Given the description of an element on the screen output the (x, y) to click on. 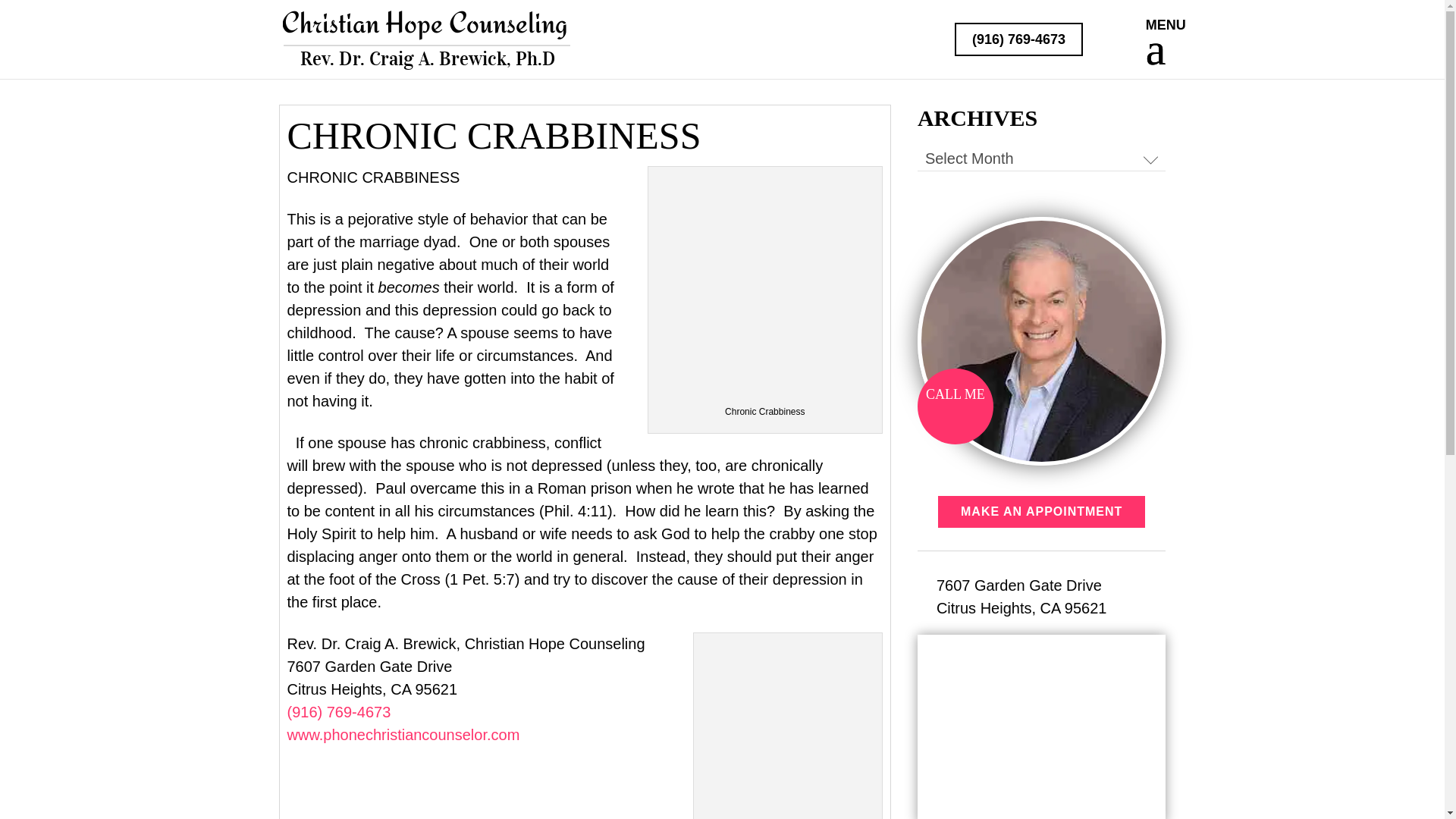
www.phonechristiancounselor.com (402, 734)
MAKE AN APPOINTMENT (1040, 511)
CALL ME (954, 406)
